Given the description of an element on the screen output the (x, y) to click on. 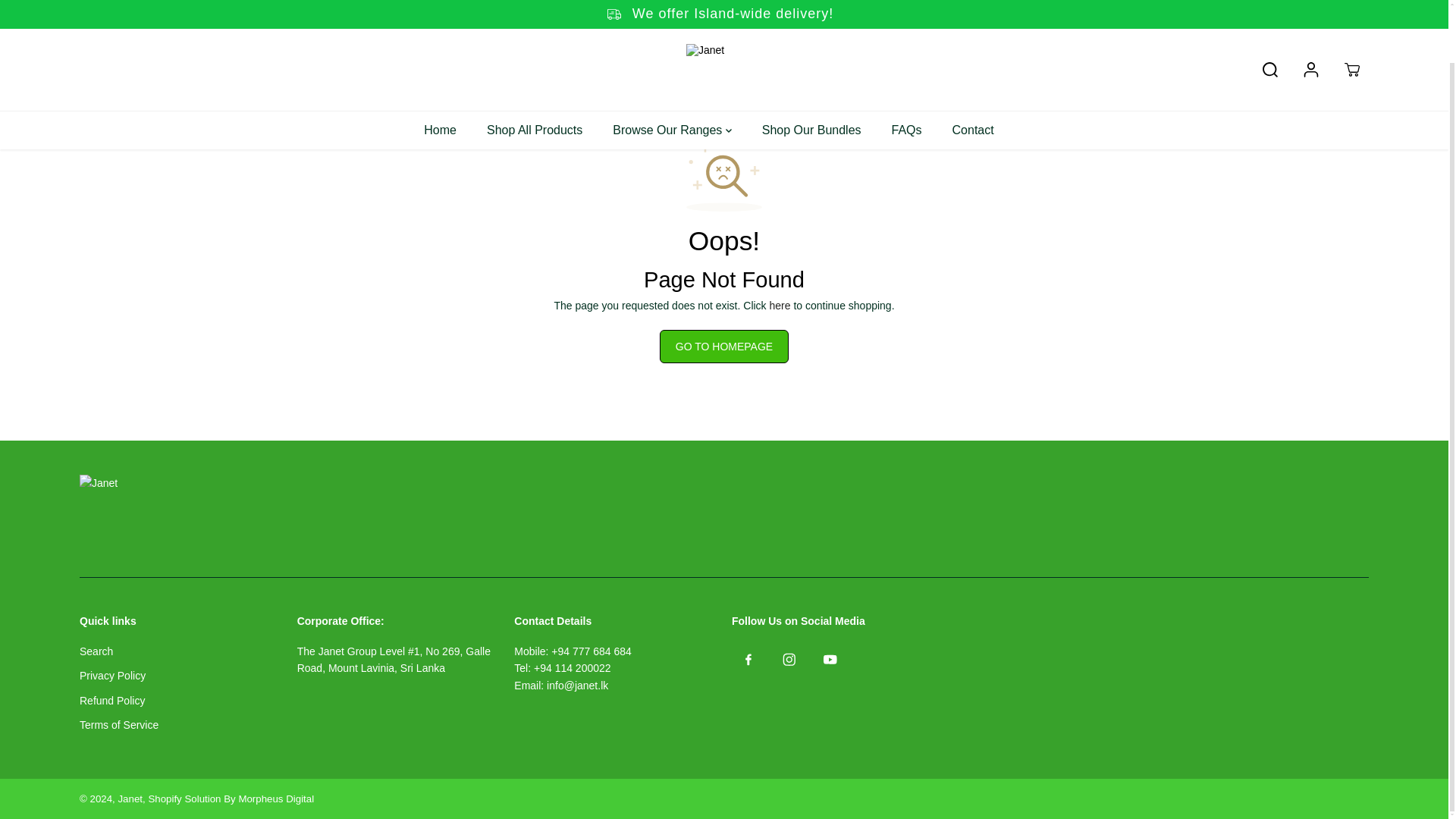
Cart (1351, 12)
Log in (1310, 12)
Search (1270, 12)
